Given the description of an element on the screen output the (x, y) to click on. 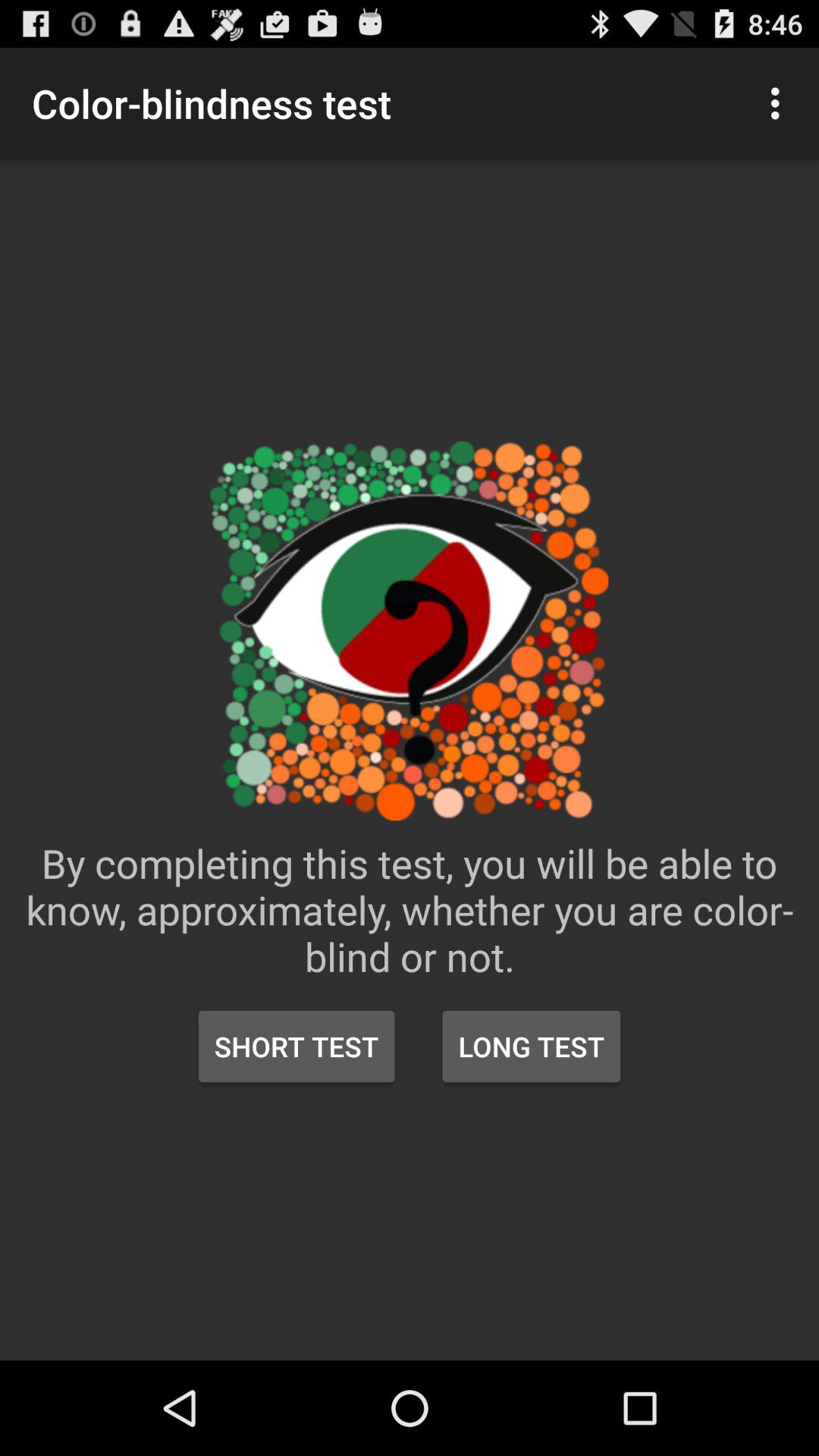
select the icon below the by completing this item (296, 1046)
